Given the description of an element on the screen output the (x, y) to click on. 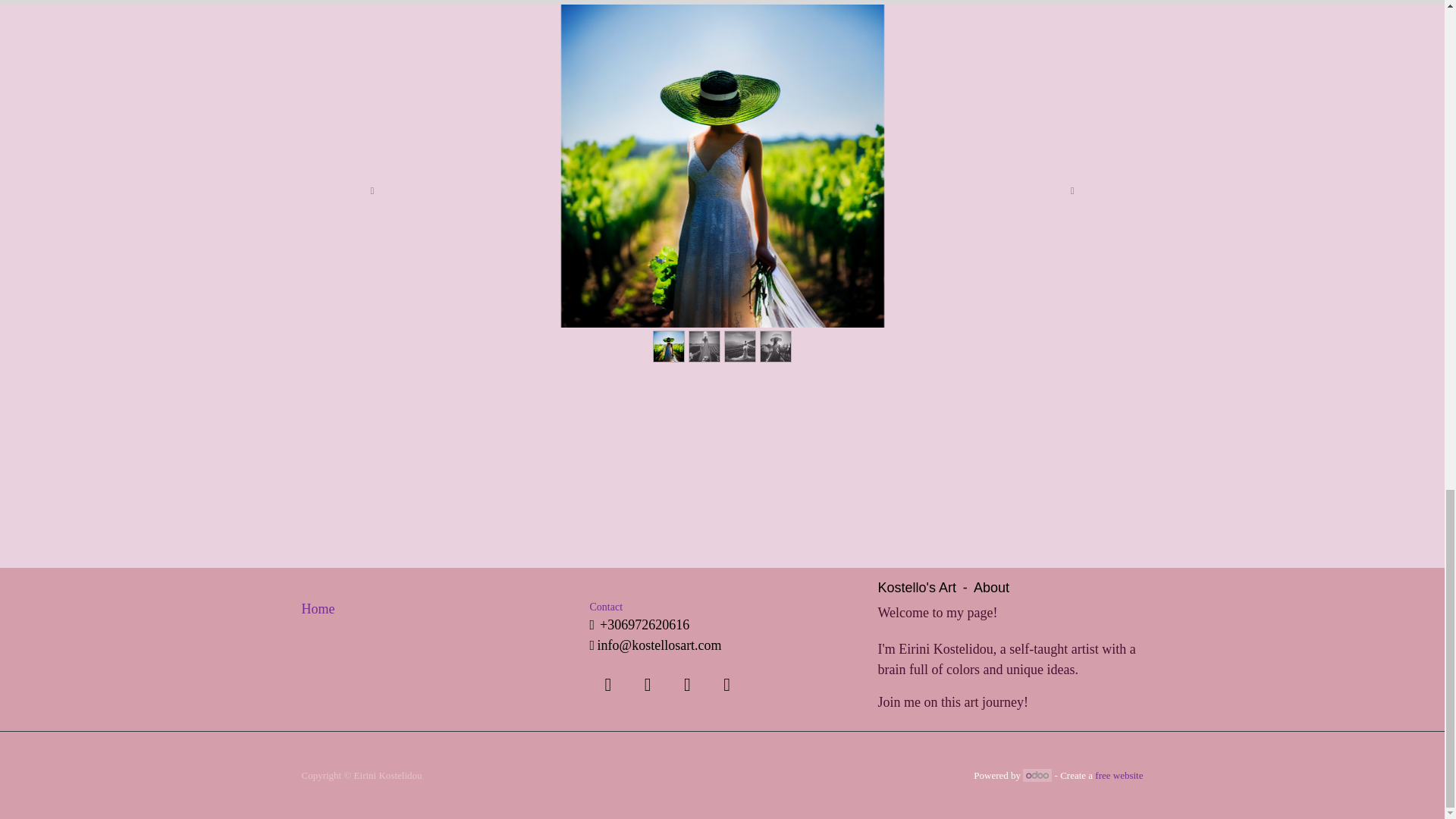
About (991, 588)
Home (317, 609)
Contact  (606, 606)
free website (1118, 775)
